Given the description of an element on the screen output the (x, y) to click on. 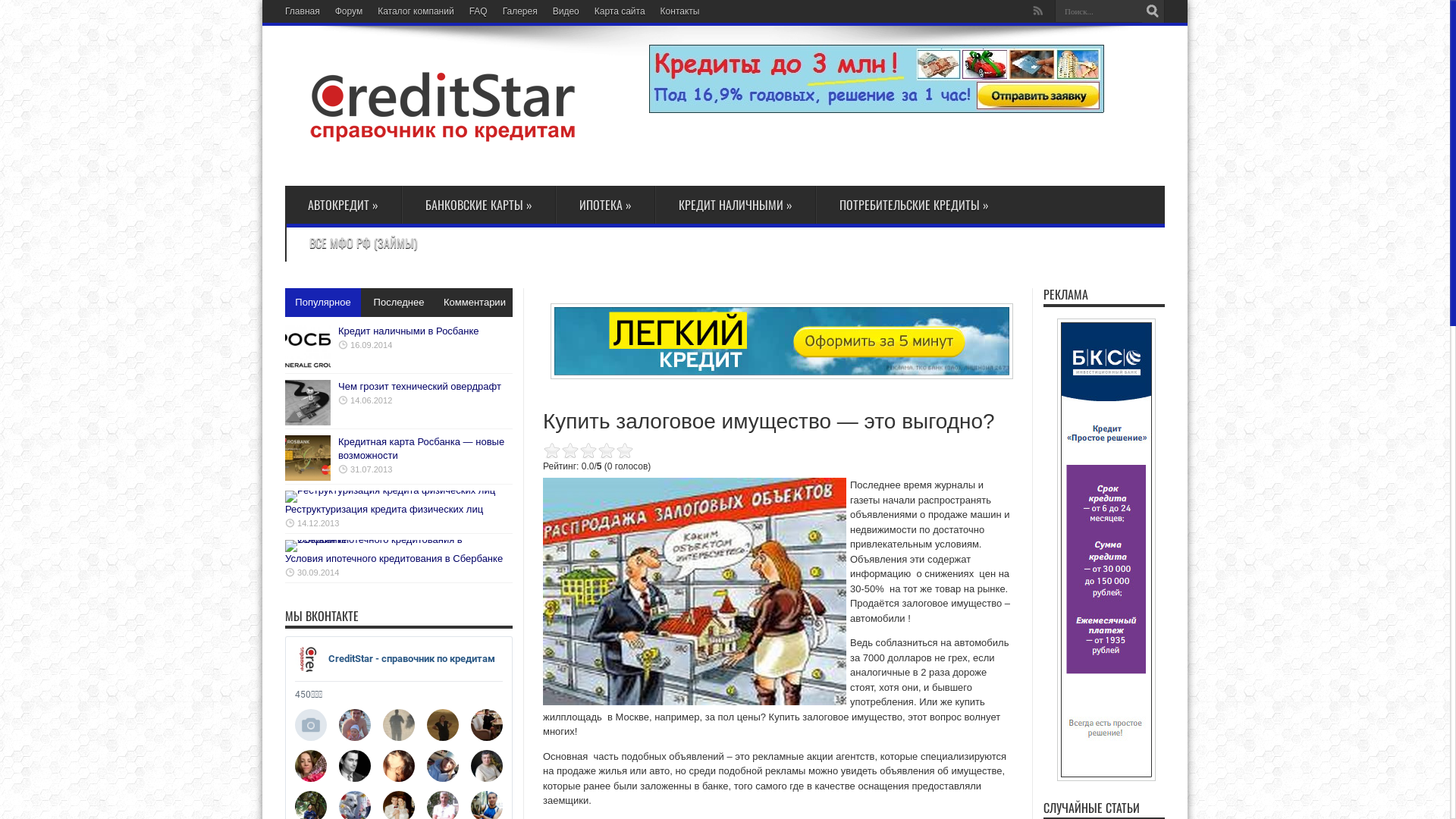
4 / 5 Element type: hover (578, 450)
5 / 5 Element type: hover (587, 450)
1 / 5 Element type: hover (551, 450)
2 / 5 Element type: hover (560, 450)
3 / 5 Element type: hover (569, 450)
FAQ Element type: text (478, 11)
